Given the description of an element on the screen output the (x, y) to click on. 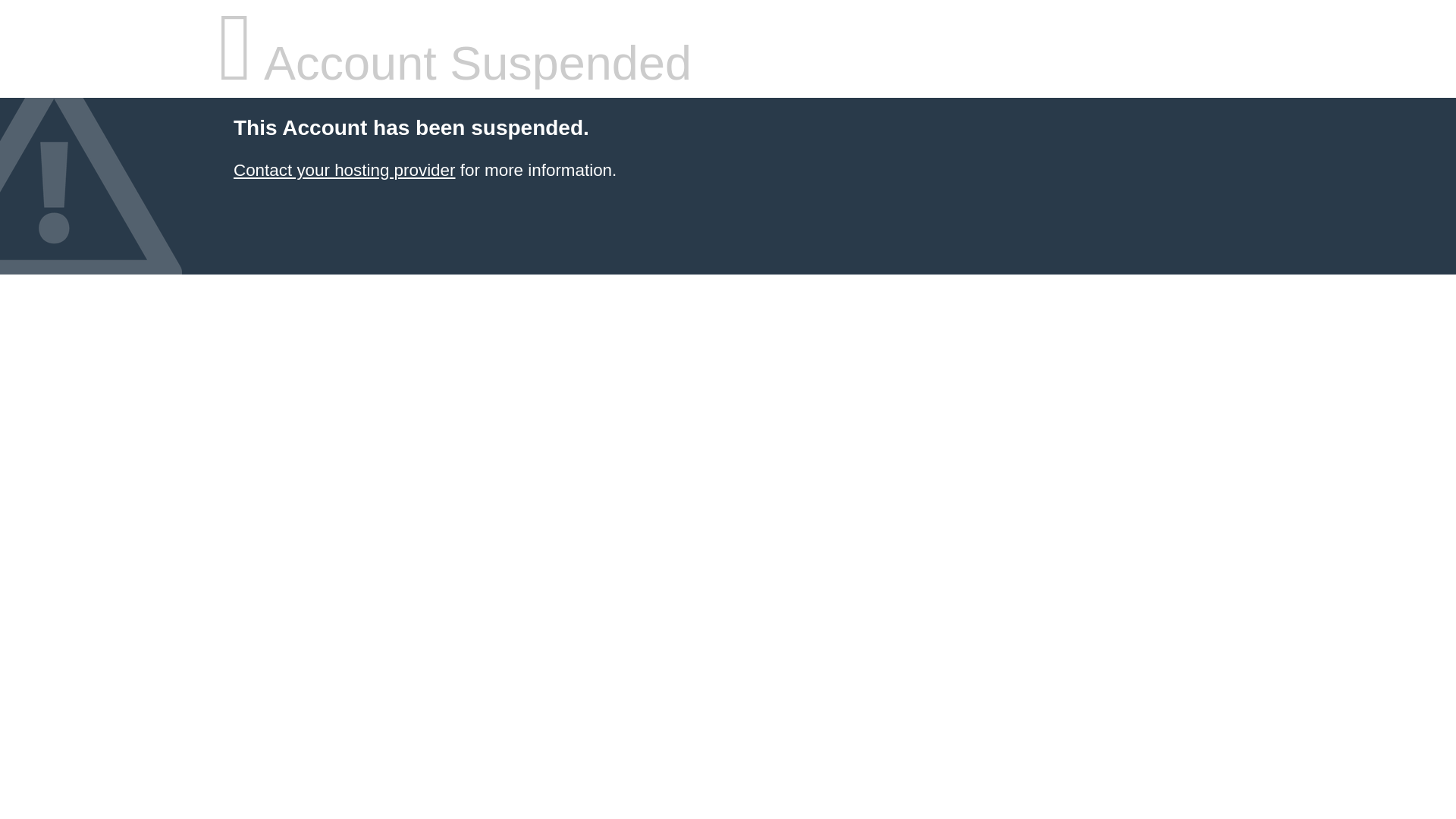
Contact your hosting provider (343, 169)
